Given the description of an element on the screen output the (x, y) to click on. 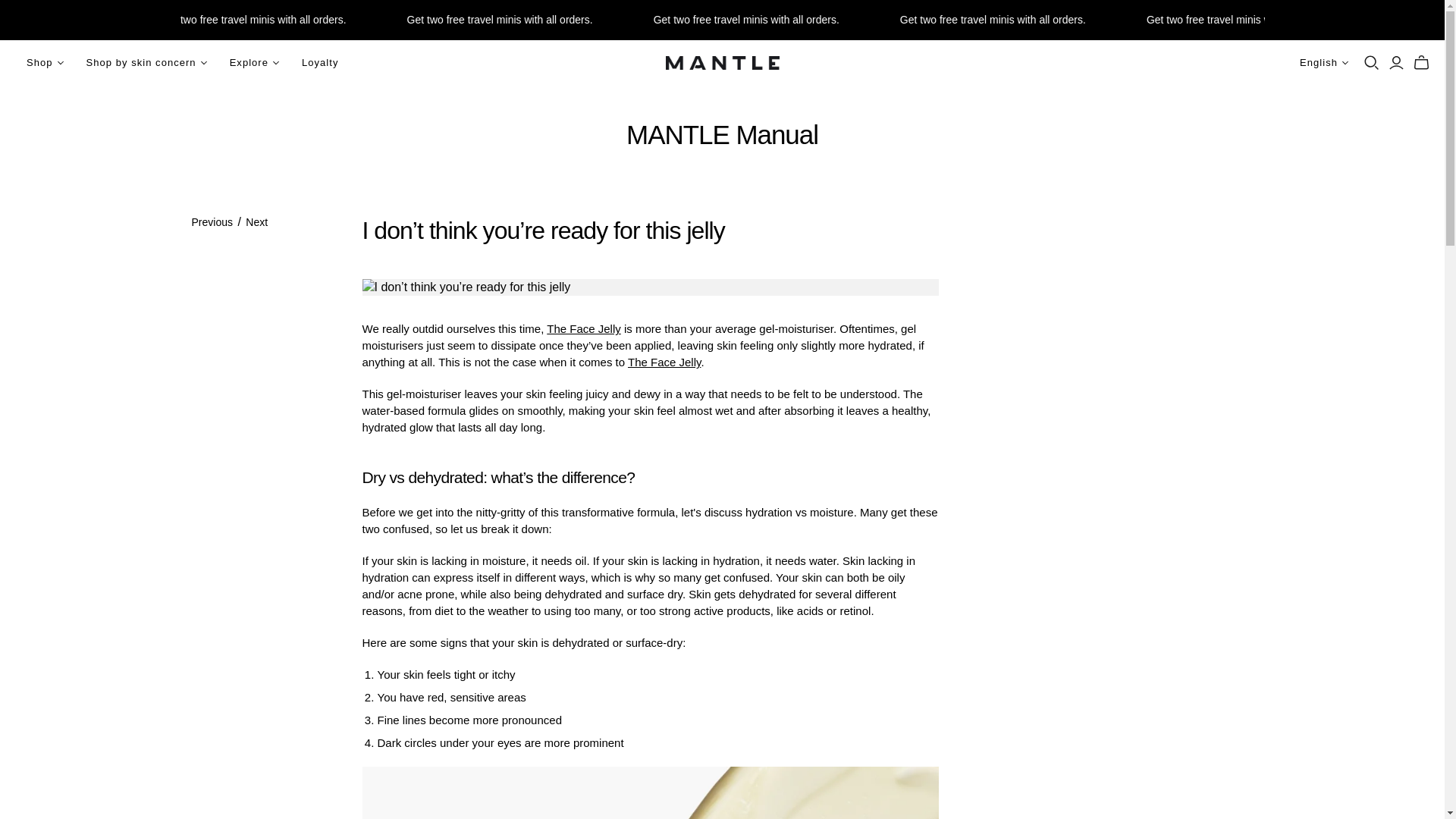
Loyalty (319, 63)
The Face Jelly (584, 328)
The Face Jelly (663, 361)
